Given the description of an element on the screen output the (x, y) to click on. 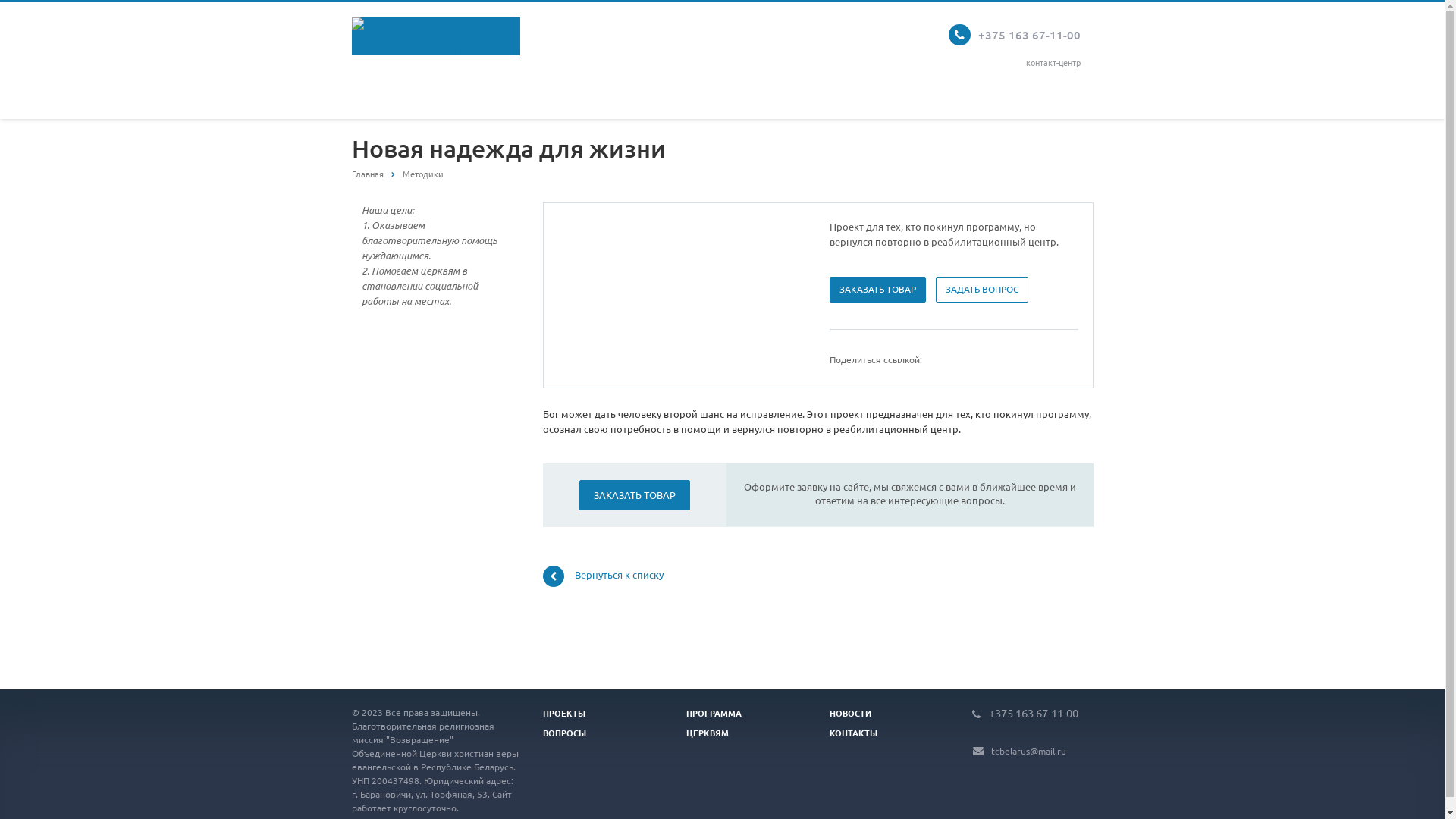
+375 163 67-11-00 Element type: text (1033, 711)
+375 163 67-11-00 Element type: text (1029, 33)
tcbelarus@mail.ru Element type: text (1027, 750)
